Given the description of an element on the screen output the (x, y) to click on. 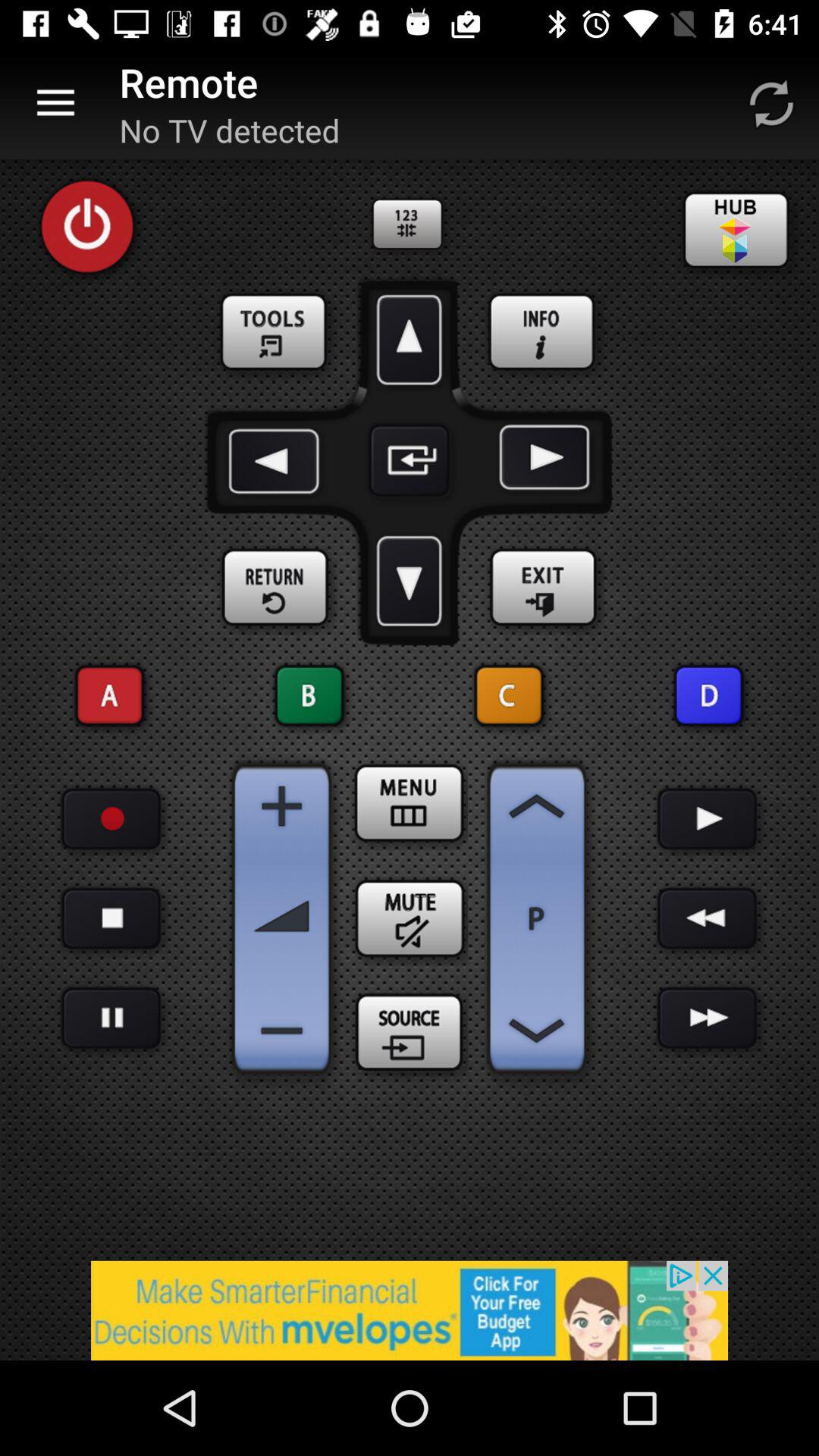
next (707, 1018)
